Given the description of an element on the screen output the (x, y) to click on. 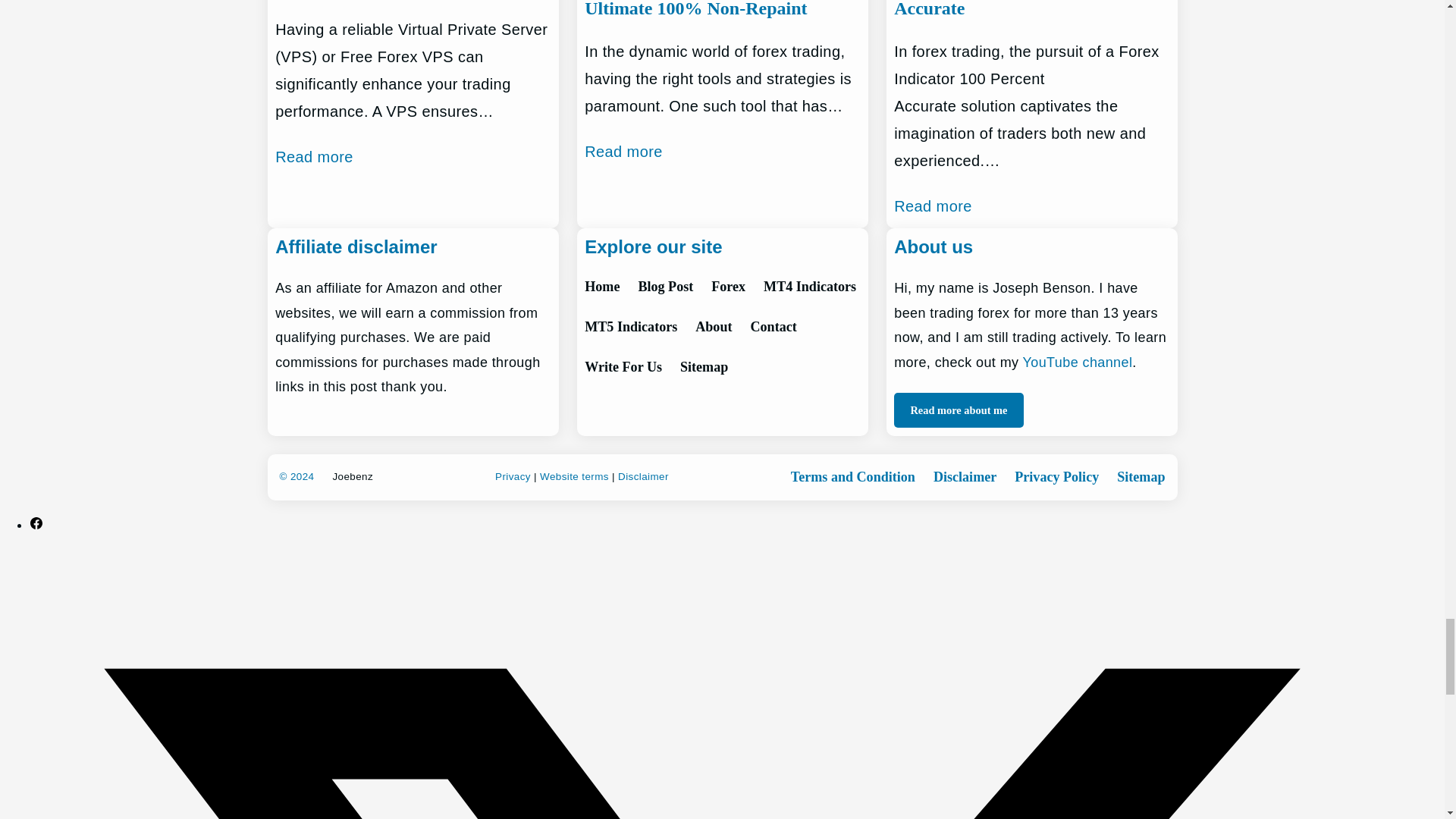
Share on Facebook (36, 524)
